Given the description of an element on the screen output the (x, y) to click on. 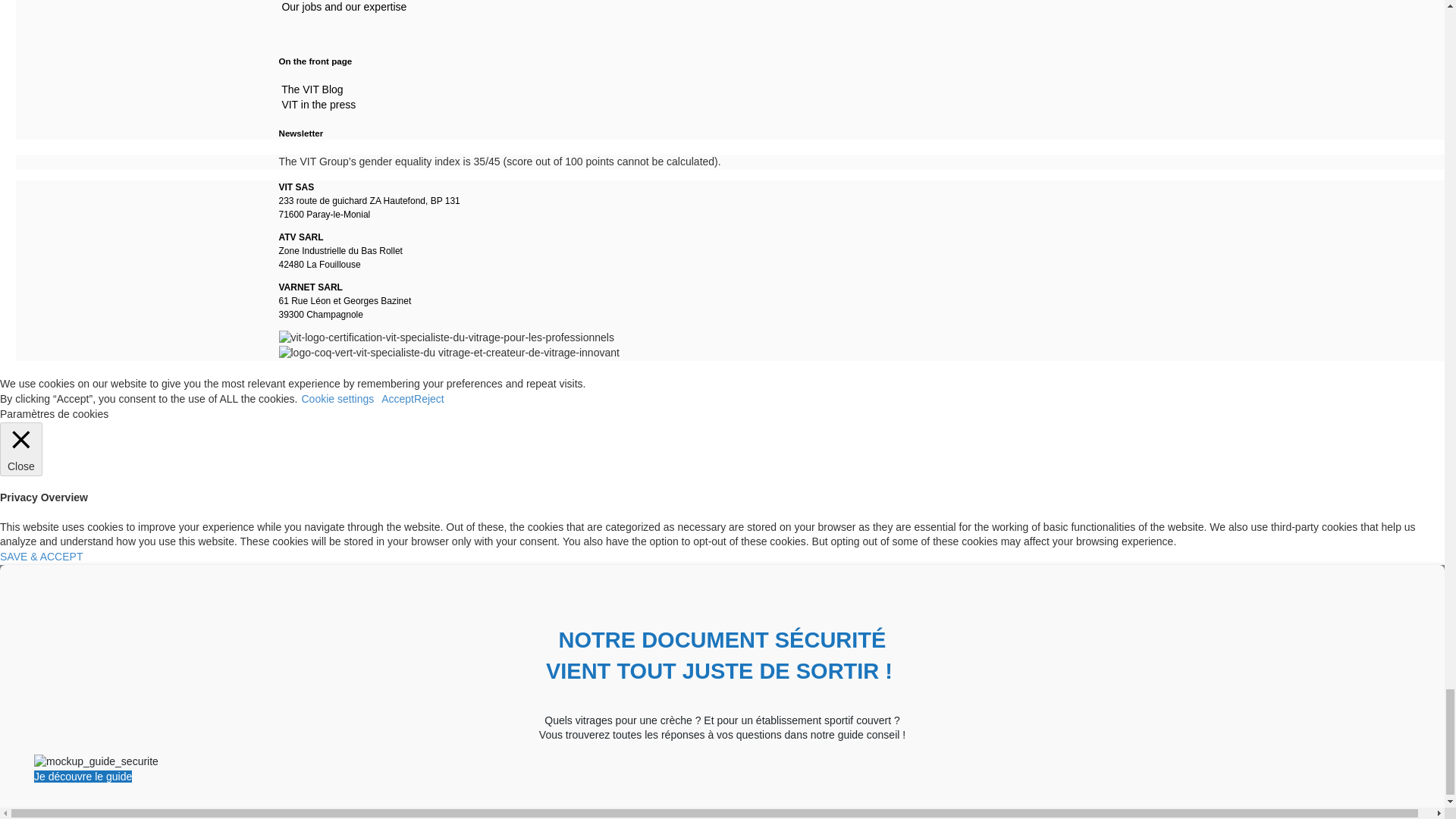
Logo Coq vert (449, 353)
vit-logo-certification (446, 337)
Je vais sur le configurateur (82, 776)
